Given the description of an element on the screen output the (x, y) to click on. 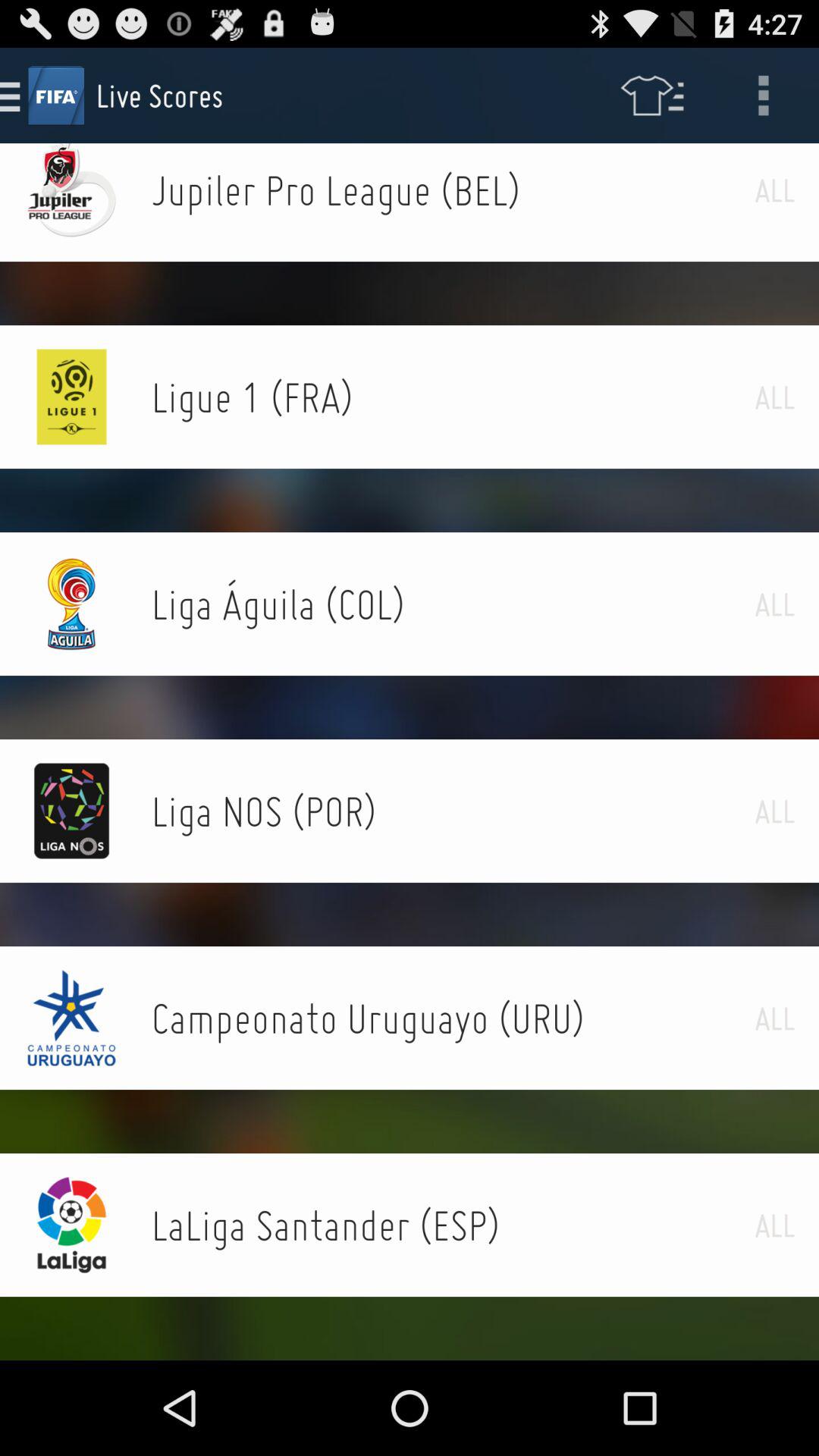
open the icon to the left of all icon (452, 1224)
